Given the description of an element on the screen output the (x, y) to click on. 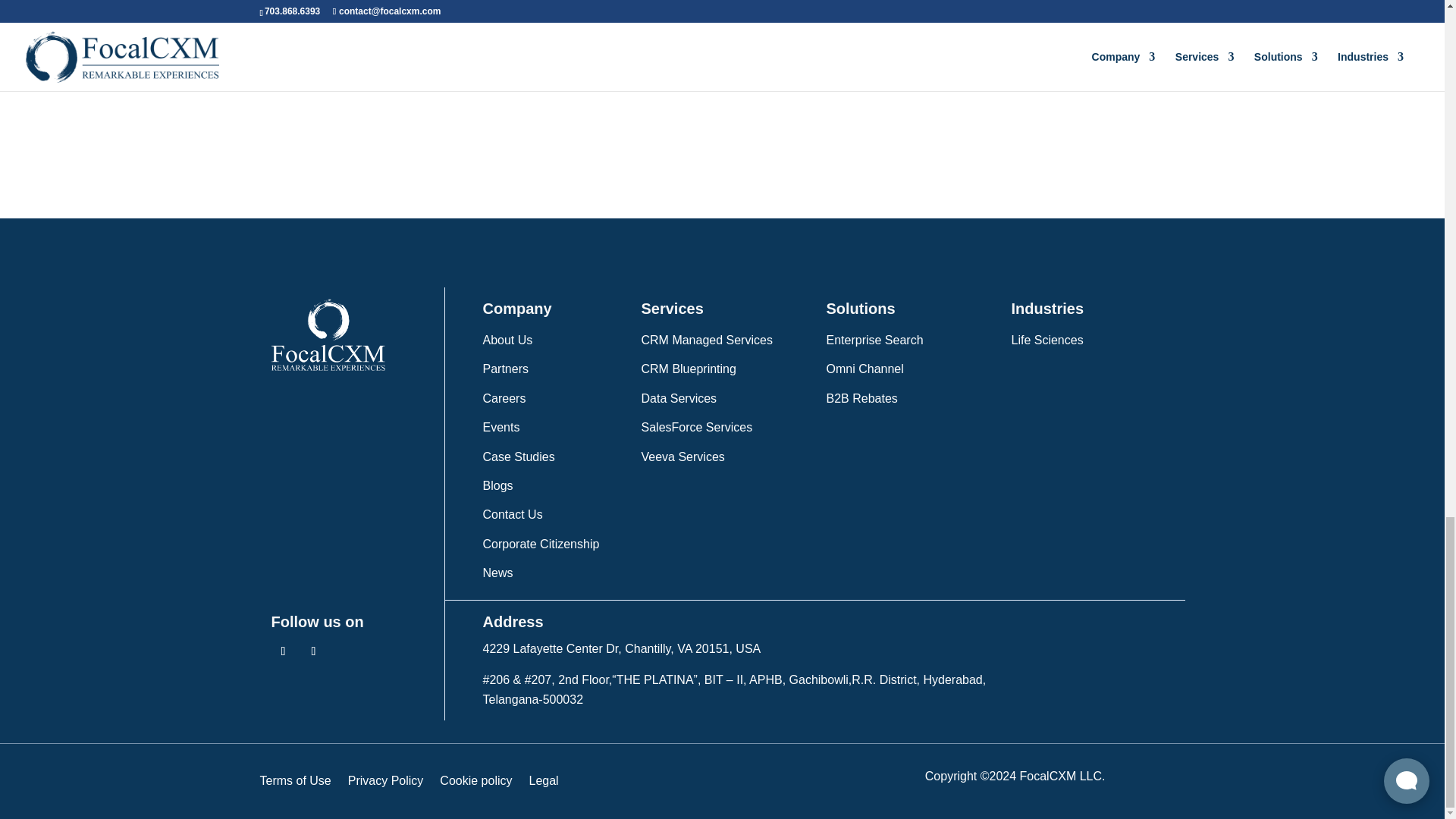
Follow on Youtube (313, 651)
Follow on LinkedIn (282, 651)
logofooter (327, 334)
